Given the description of an element on the screen output the (x, y) to click on. 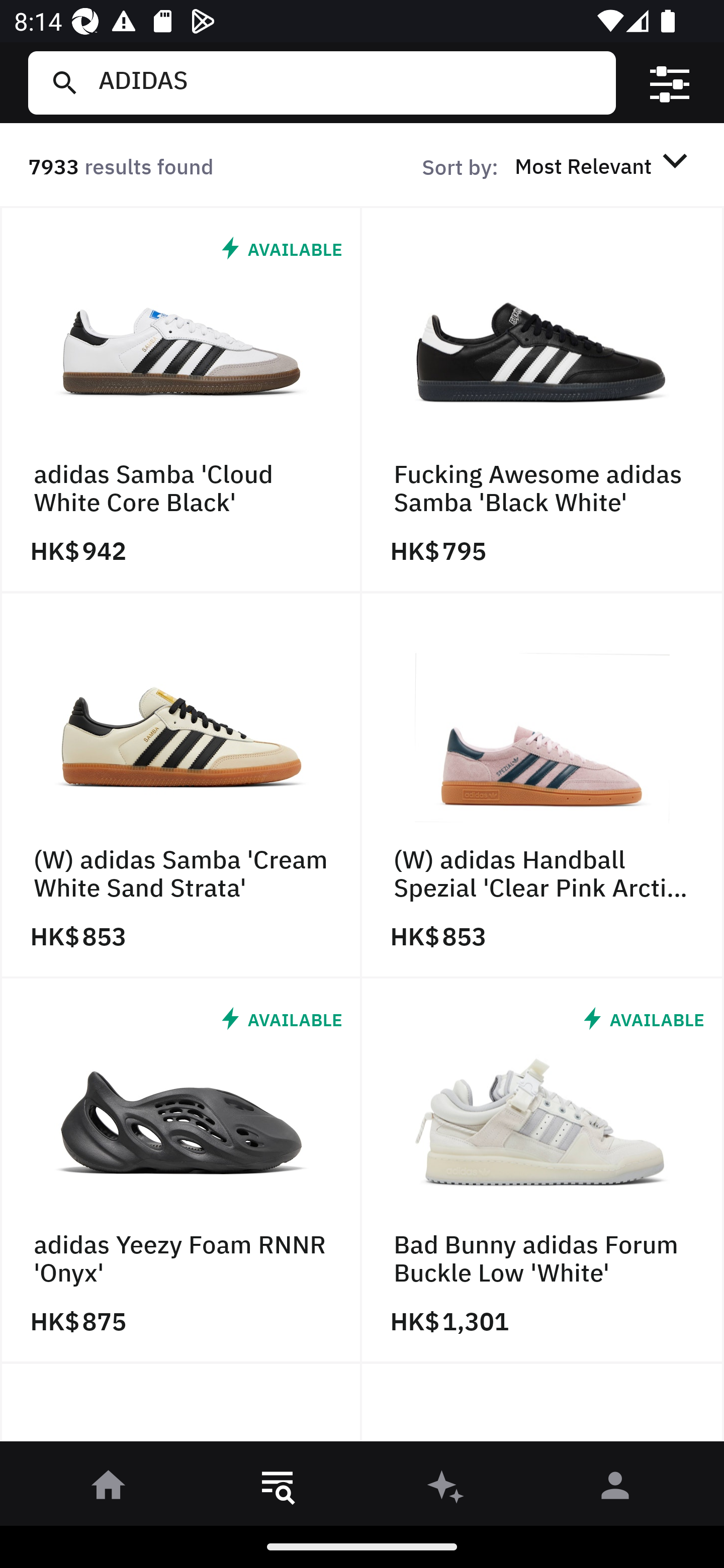
ADIDAS (349, 82)
 (669, 82)
Most Relevant  (604, 165)
Fucking Awesome adidas Samba 'Black White' HK$ 795 (543, 399)
(W) adidas Samba 'Cream White Sand Strata' HK$ 853 (181, 785)
 AVAILABLE adidas Yeezy Foam RNNR 'Onyx' HK$ 875 (181, 1171)
󰋜 (108, 1488)
󱎸 (277, 1488)
󰫢 (446, 1488)
󰀄 (615, 1488)
